Given the description of an element on the screen output the (x, y) to click on. 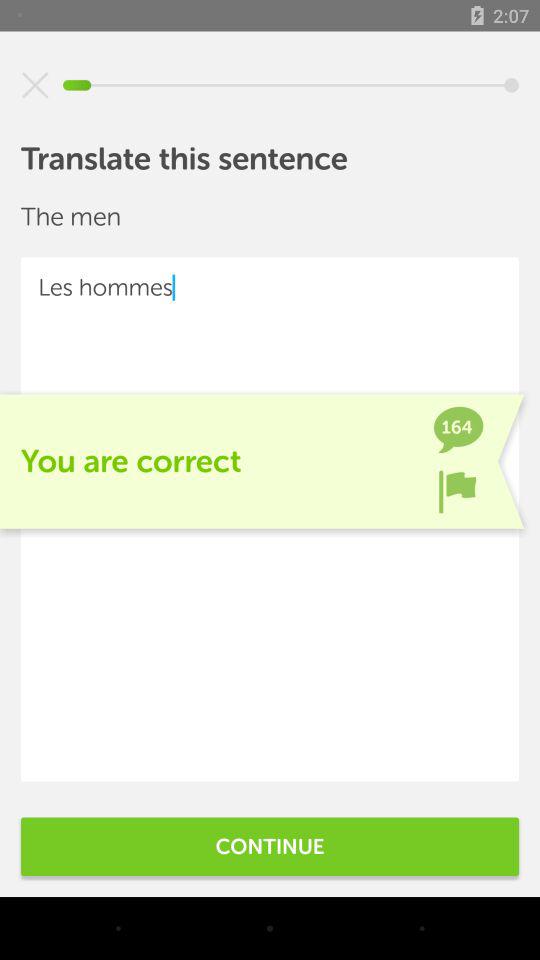
open the icon above the translate this sentence (35, 85)
